Given the description of an element on the screen output the (x, y) to click on. 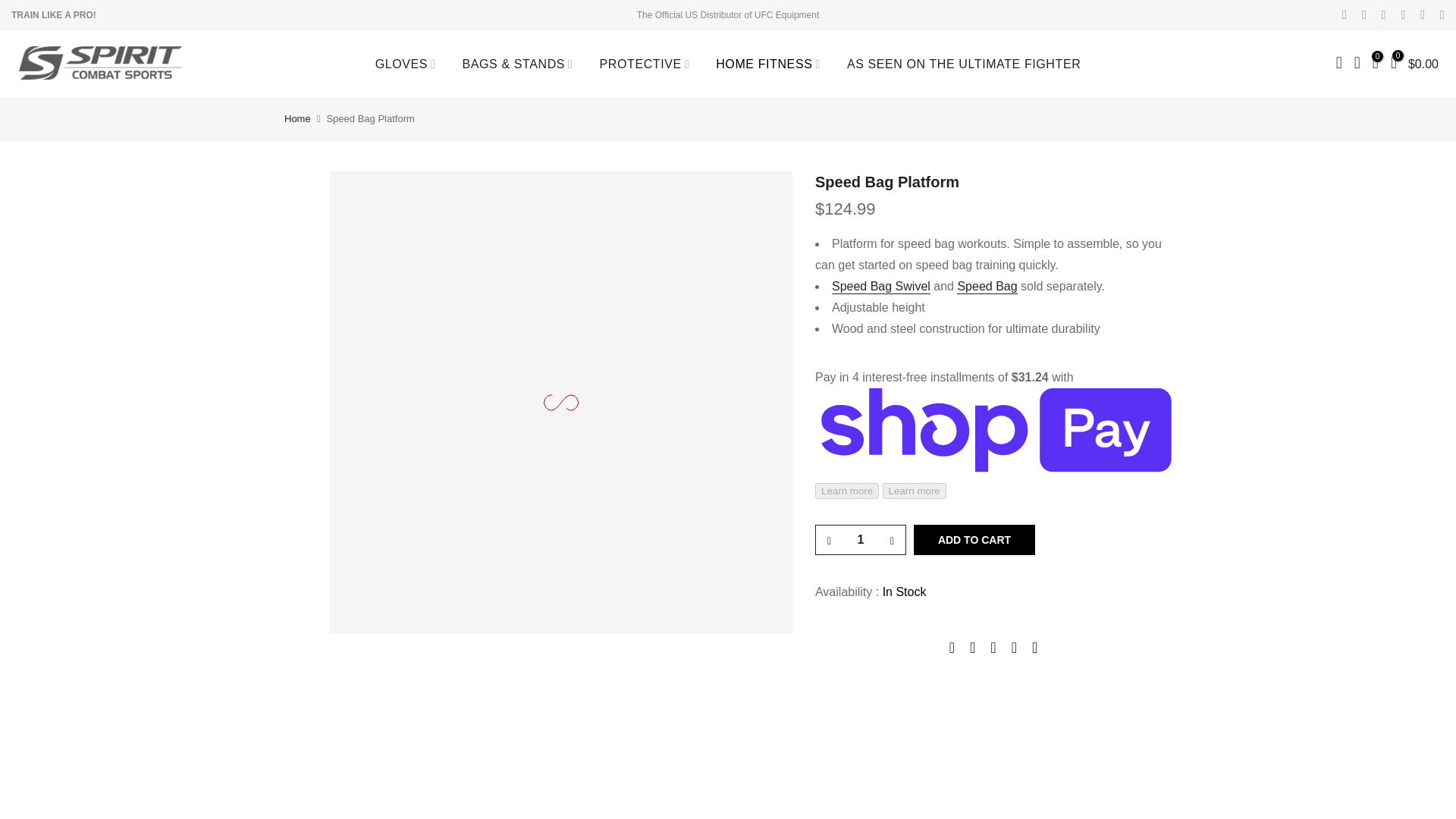
Speed Bag (986, 287)
Home (297, 119)
AS SEEN ON THE ULTIMATE FIGHTER (962, 64)
1 (860, 539)
HOME FITNESS (768, 64)
ADD TO CART (974, 539)
GLOVES (404, 64)
Speed Bag Swivel (880, 287)
PROTECTIVE (644, 64)
